Given the description of an element on the screen output the (x, y) to click on. 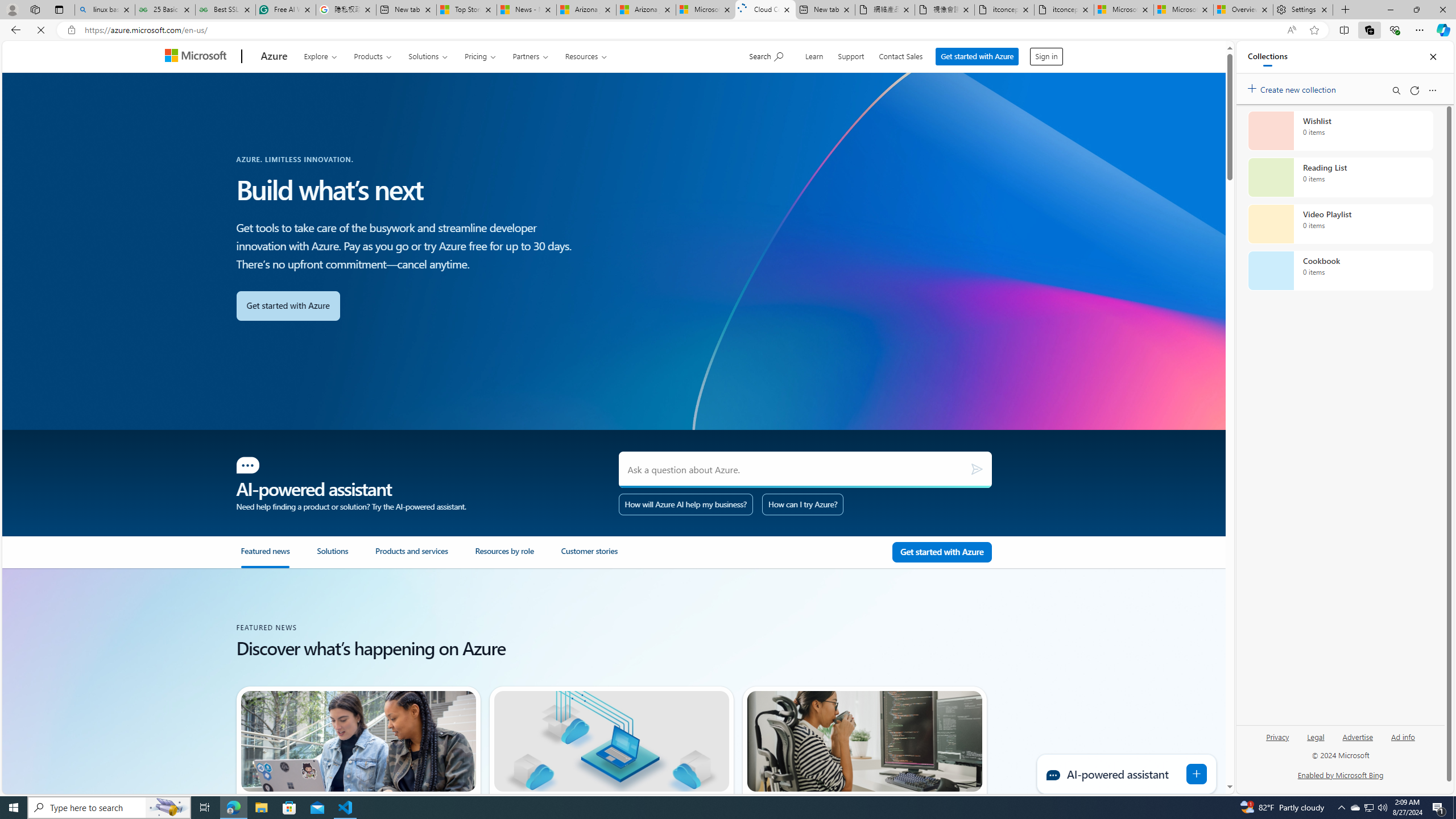
Products and services (425, 556)
How can I try Azure? (802, 504)
Video Playlist collection, 0 items (1339, 223)
How will Azure AI help my business? (686, 504)
itconcepthk.com/projector_solutions.mp4 (1064, 9)
